Given the description of an element on the screen output the (x, y) to click on. 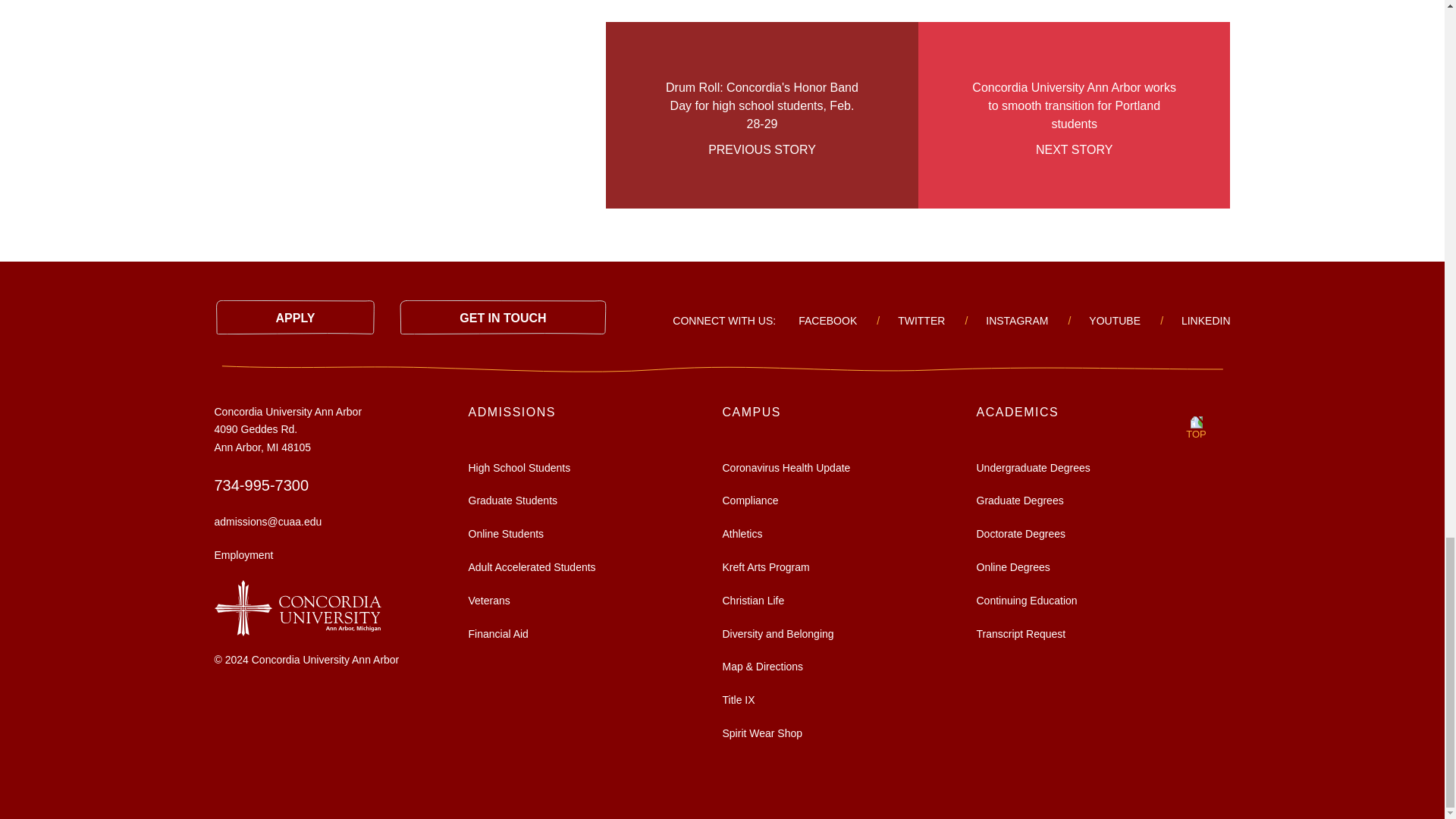
CUAA Home Page (297, 606)
TOP (1195, 424)
